Given the description of an element on the screen output the (x, y) to click on. 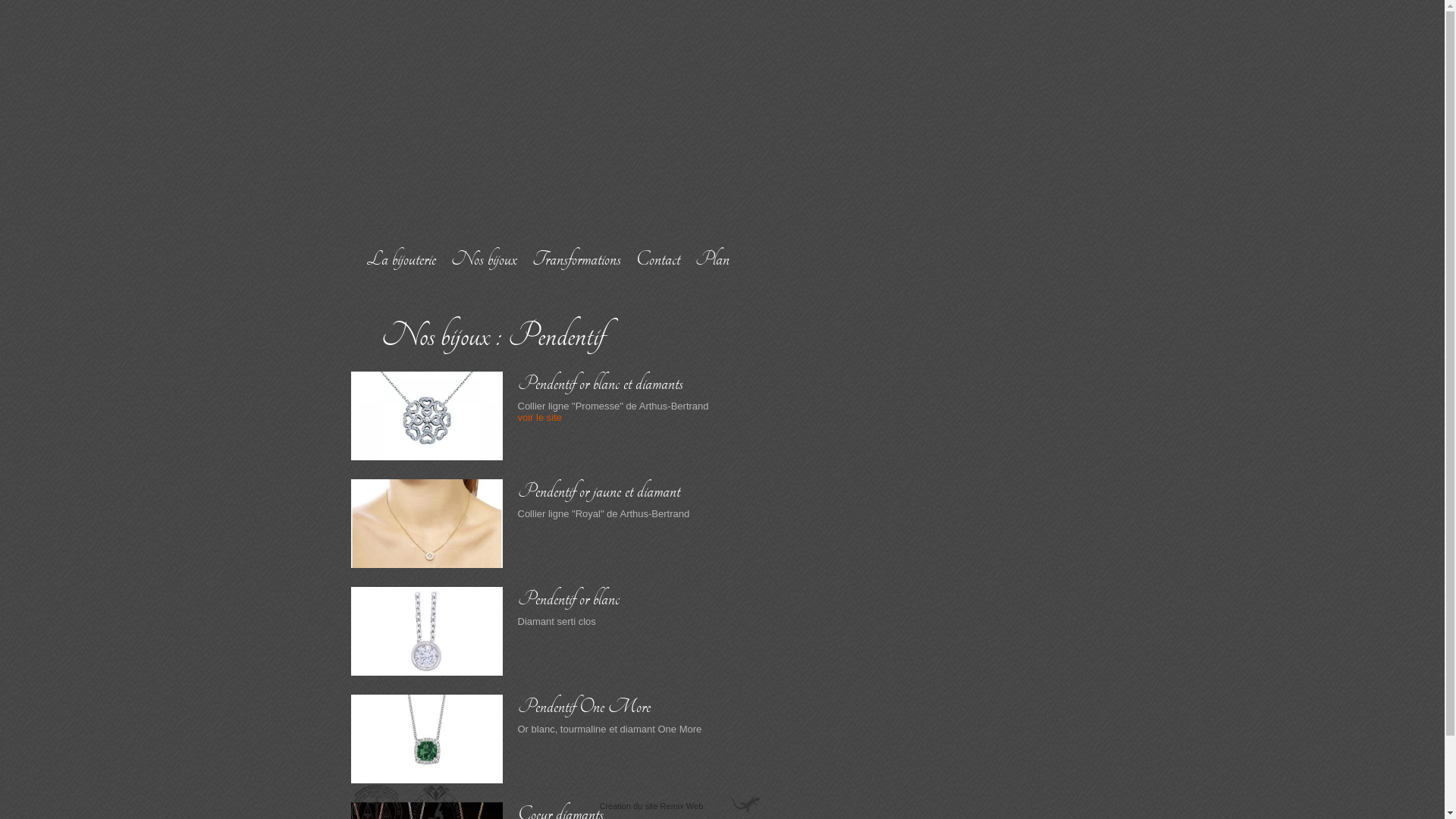
Contact Element type: text (657, 259)
Plan    Element type: text (717, 259)
Transformations Element type: text (576, 259)
joaillerie, horlogerie, bijouterie brou Element type: hover (554, 116)
La bijouterie Element type: text (400, 259)
voir le site Element type: text (539, 417)
Nos bijoux Element type: text (483, 259)
